Given the description of an element on the screen output the (x, y) to click on. 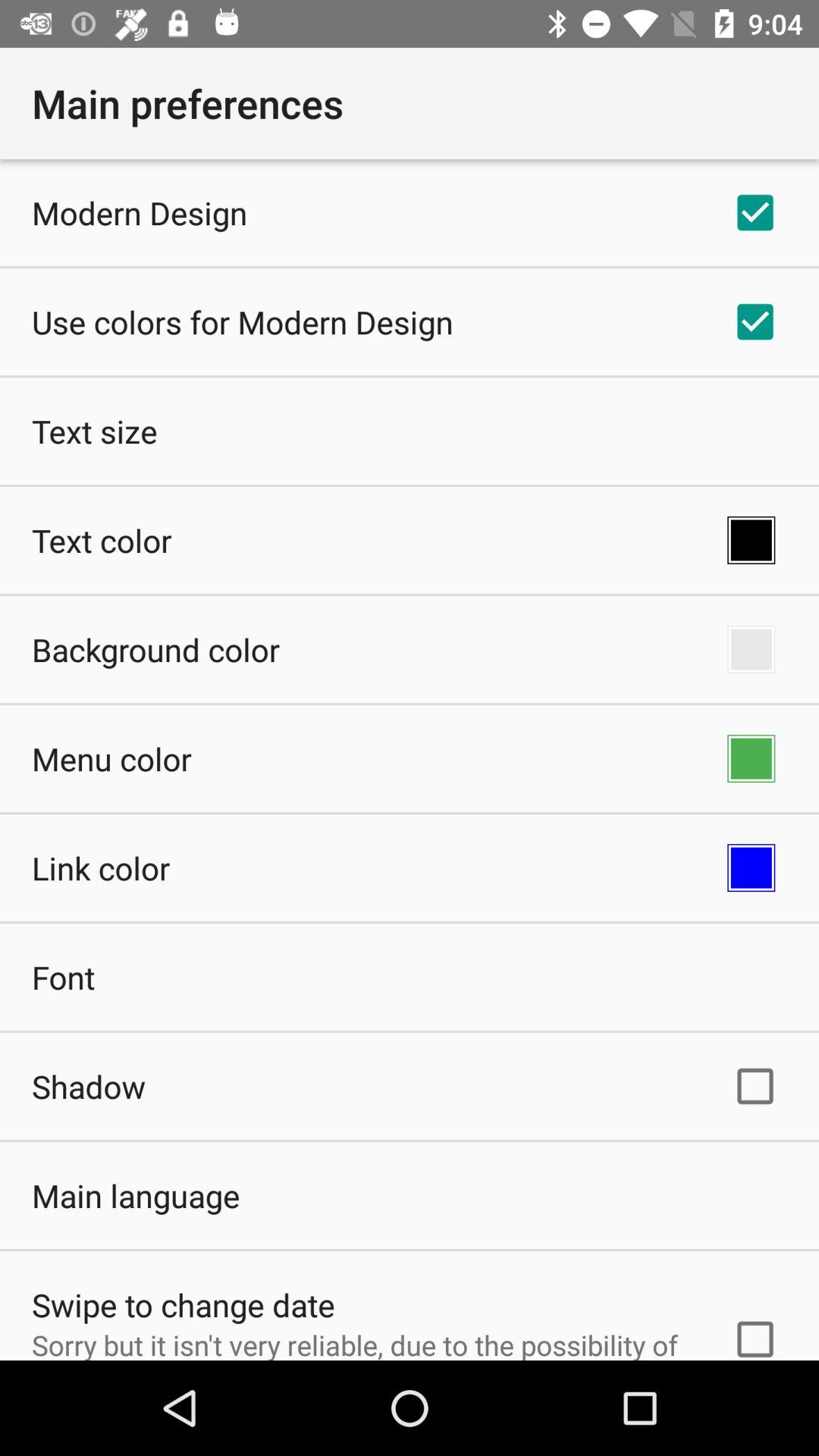
launch item below the menu color app (100, 867)
